Given the description of an element on the screen output the (x, y) to click on. 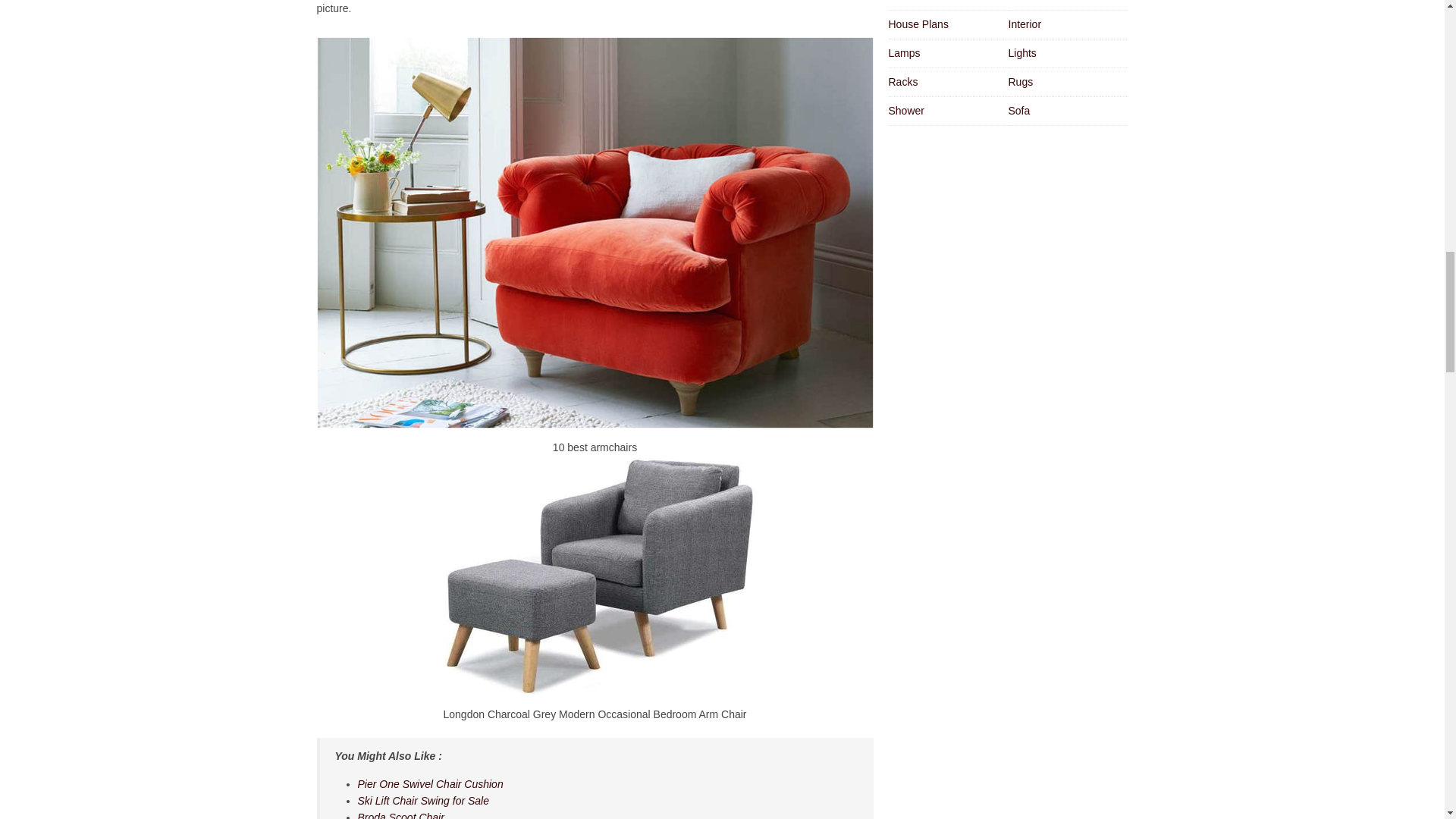
Broda Scoot Chair (401, 815)
Longdon Charcoal Grey Modern Occasional Bedroom Arm Chair (594, 575)
Ski Lift Chair Swing for Sale (423, 800)
Pier One Swivel Chair Cushion (430, 784)
